Given the description of an element on the screen output the (x, y) to click on. 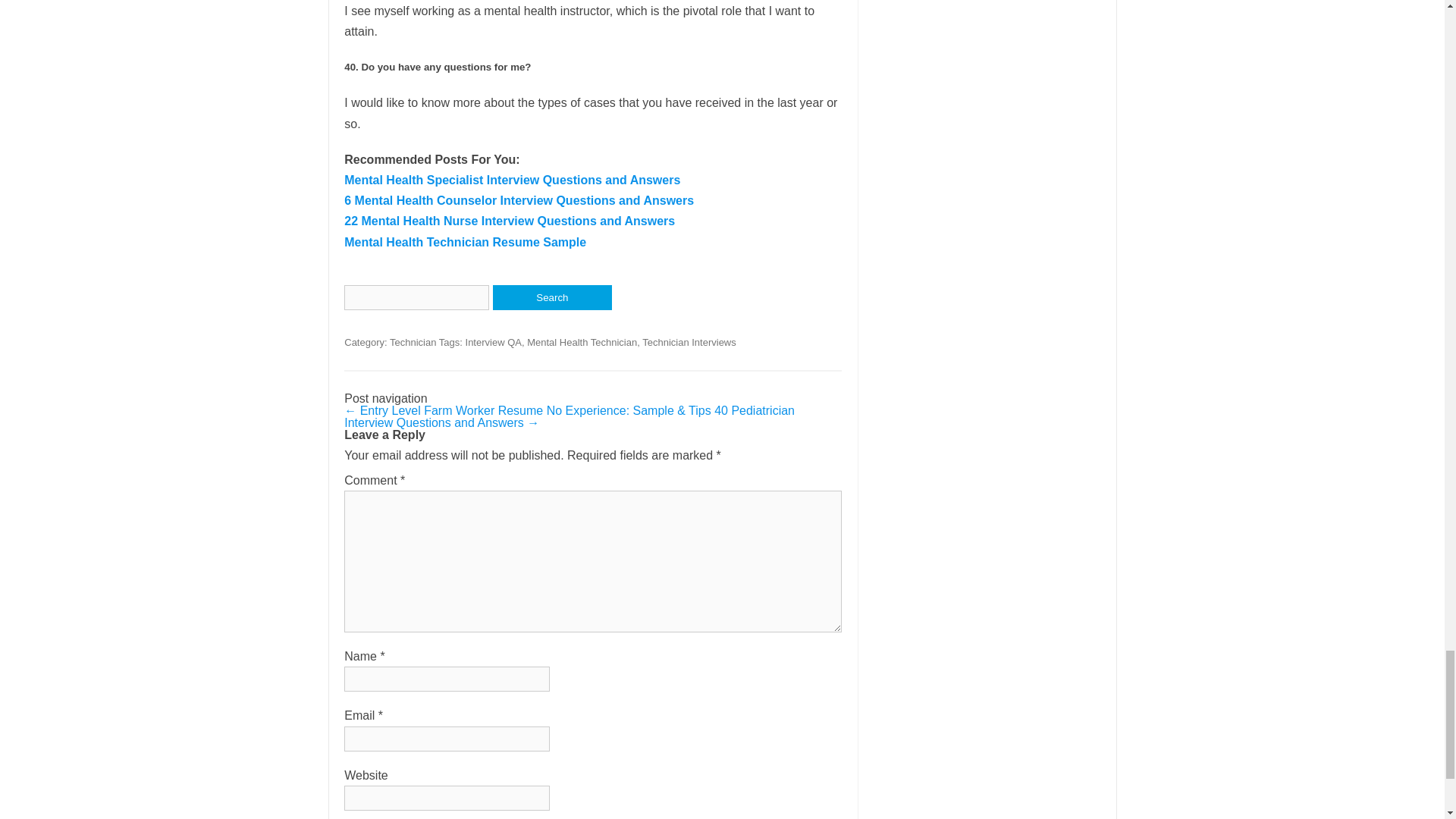
Mental Health Technician Resume Sample (464, 241)
Technician (412, 342)
Search (552, 297)
Mental Health Technician (582, 342)
Mental Health Technician Resume Sample (464, 241)
22 Mental Health Nurse Interview Questions and Answers (509, 220)
6 Mental Health Counselor Interview Questions and Answers (518, 200)
Search (552, 297)
Interview QA (493, 342)
Mental Health Specialist Interview Questions and Answers (511, 179)
